Given the description of an element on the screen output the (x, y) to click on. 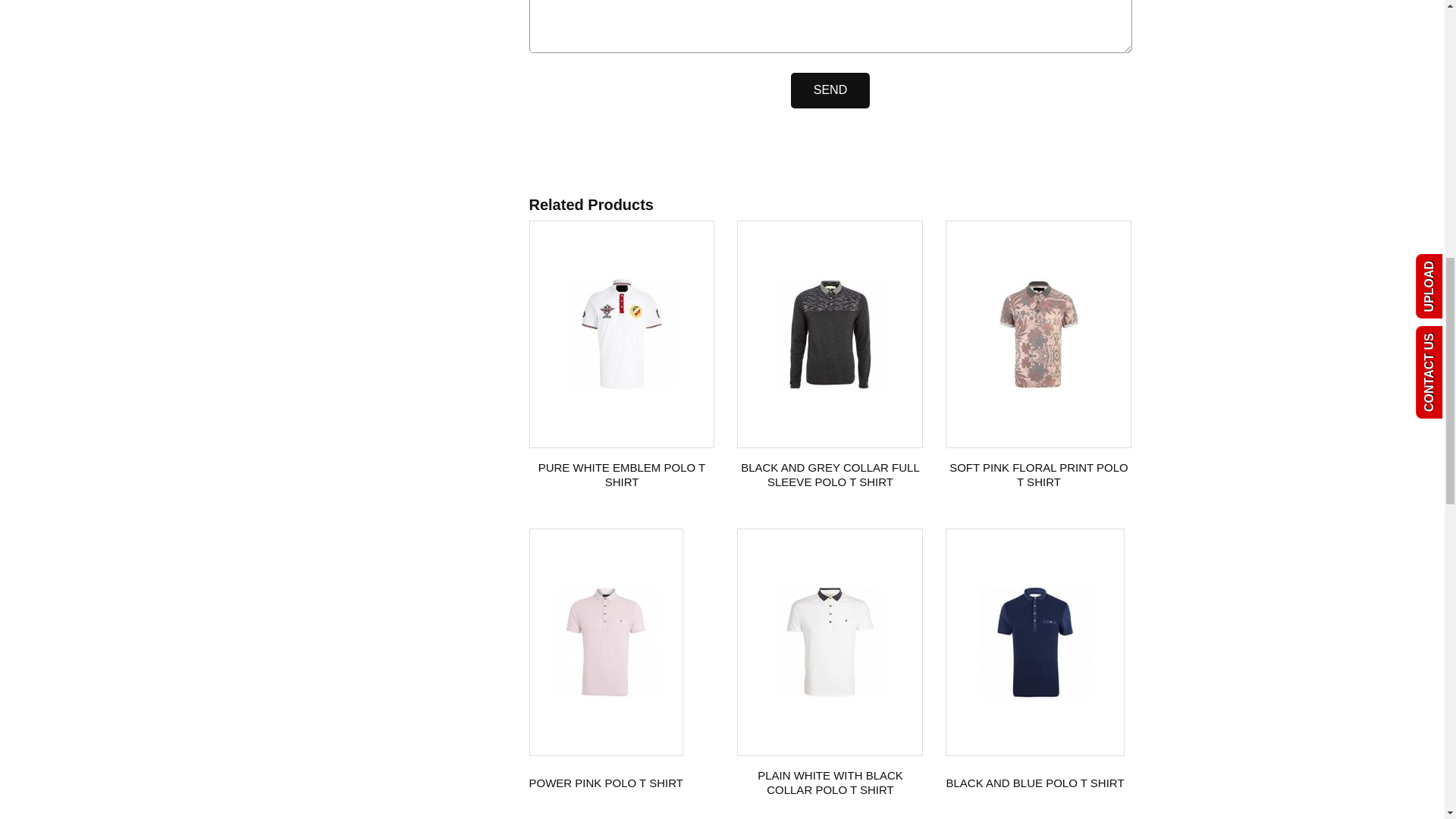
Wholesale Pure White Emblem Polo T Shirt in USA (621, 334)
Wholesale Power Pink Polo T Shirt in USA (605, 642)
Send (829, 90)
Wholesale Soft Pink Floral Print Polo T Shirt in USA (1038, 334)
Wholesale Plain White with Black Collar Polo T Shirt in USA (829, 642)
Wholesale Black and Blue Polo T Shirt in USA (1035, 642)
